Given the description of an element on the screen output the (x, y) to click on. 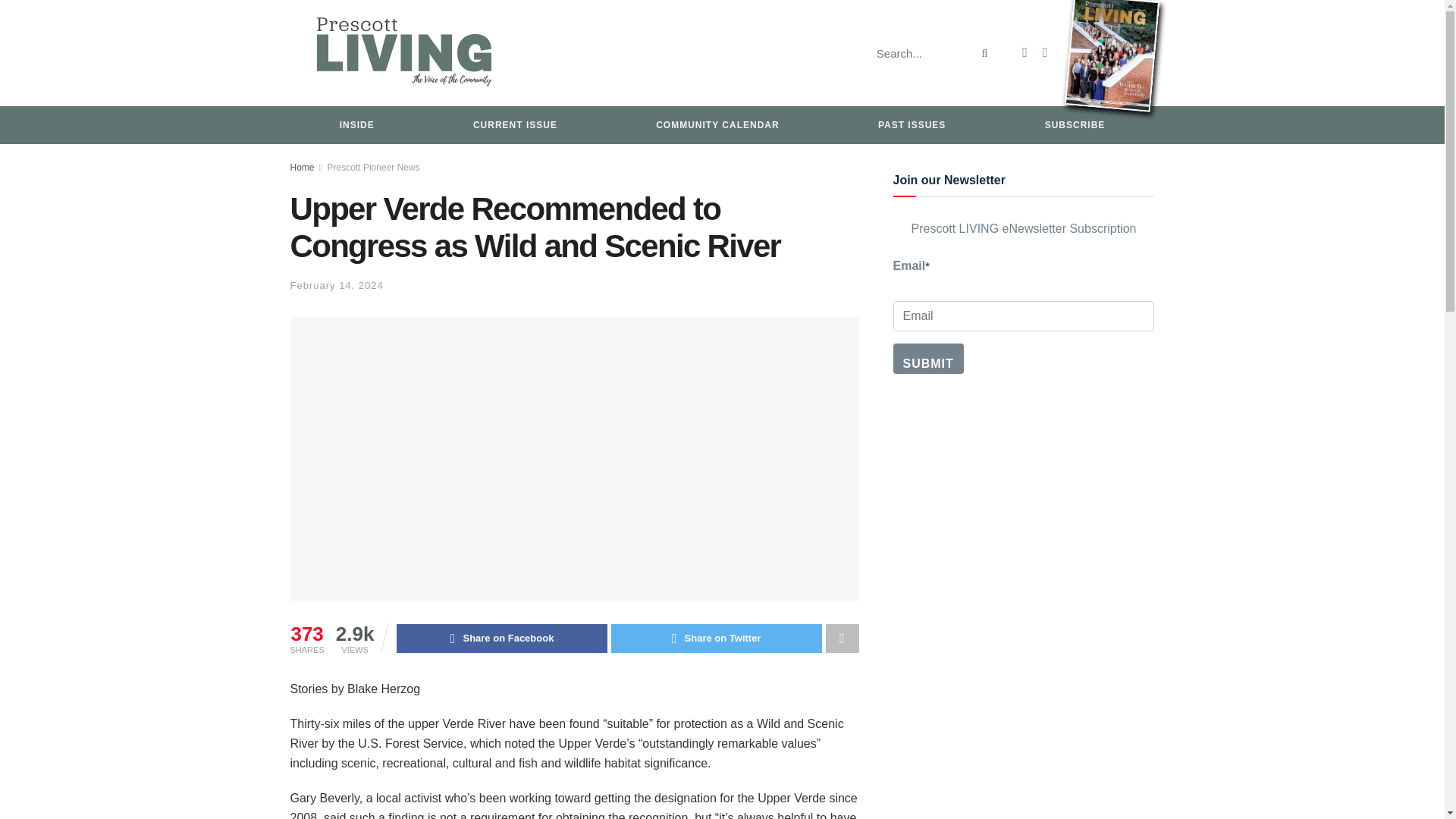
Submit (928, 358)
PAST ISSUES (911, 125)
COMMUNITY CALENDAR (717, 125)
SUBSCRIBE (1074, 125)
CURRENT ISSUE (515, 125)
INSIDE (356, 125)
